Given the description of an element on the screen output the (x, y) to click on. 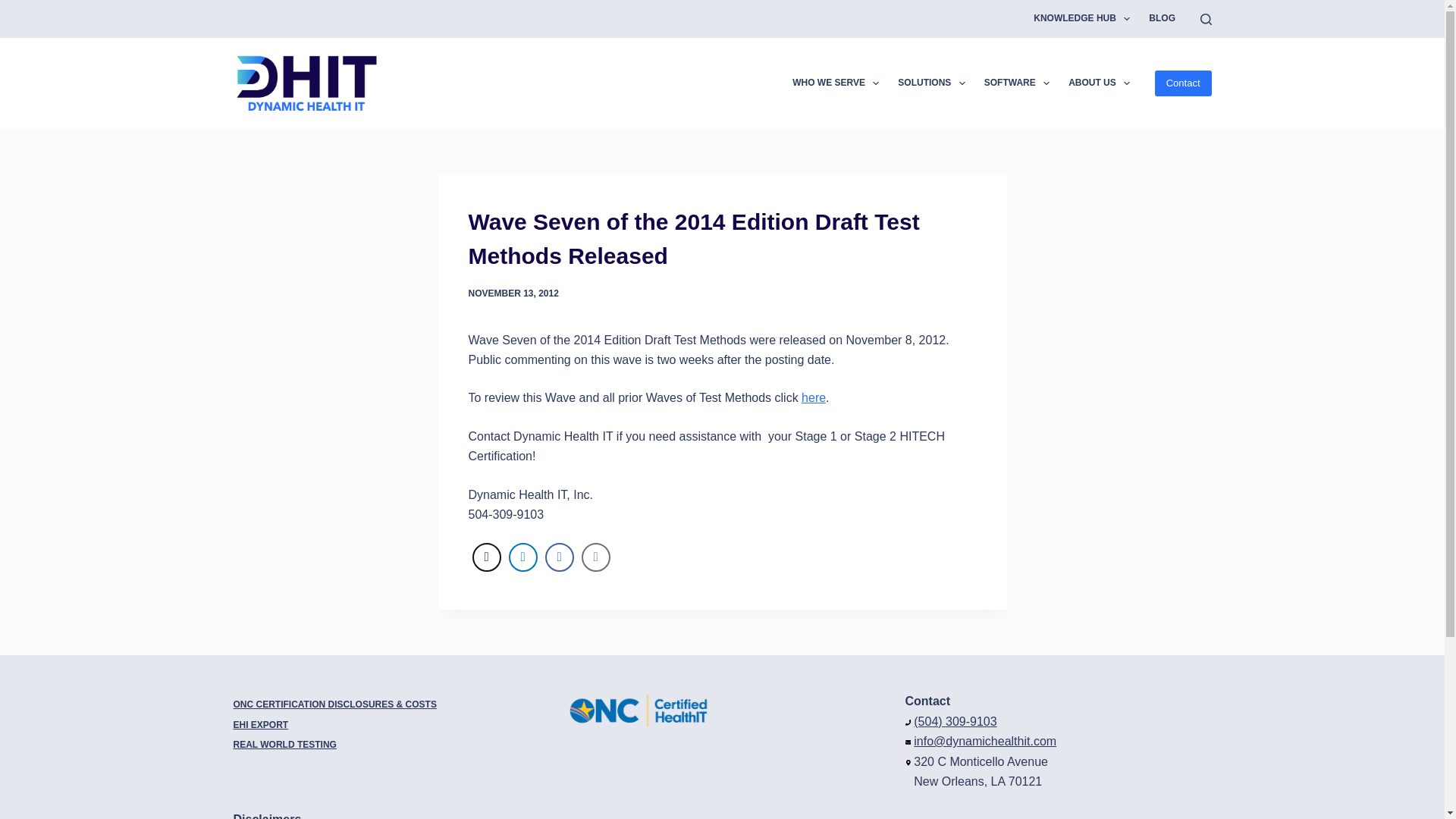
Wave Seven of the 2014 Edition Draft Test Methods Released (722, 238)
KNOWLEDGE HUB (1082, 18)
Skip to content (15, 7)
